Given the description of an element on the screen output the (x, y) to click on. 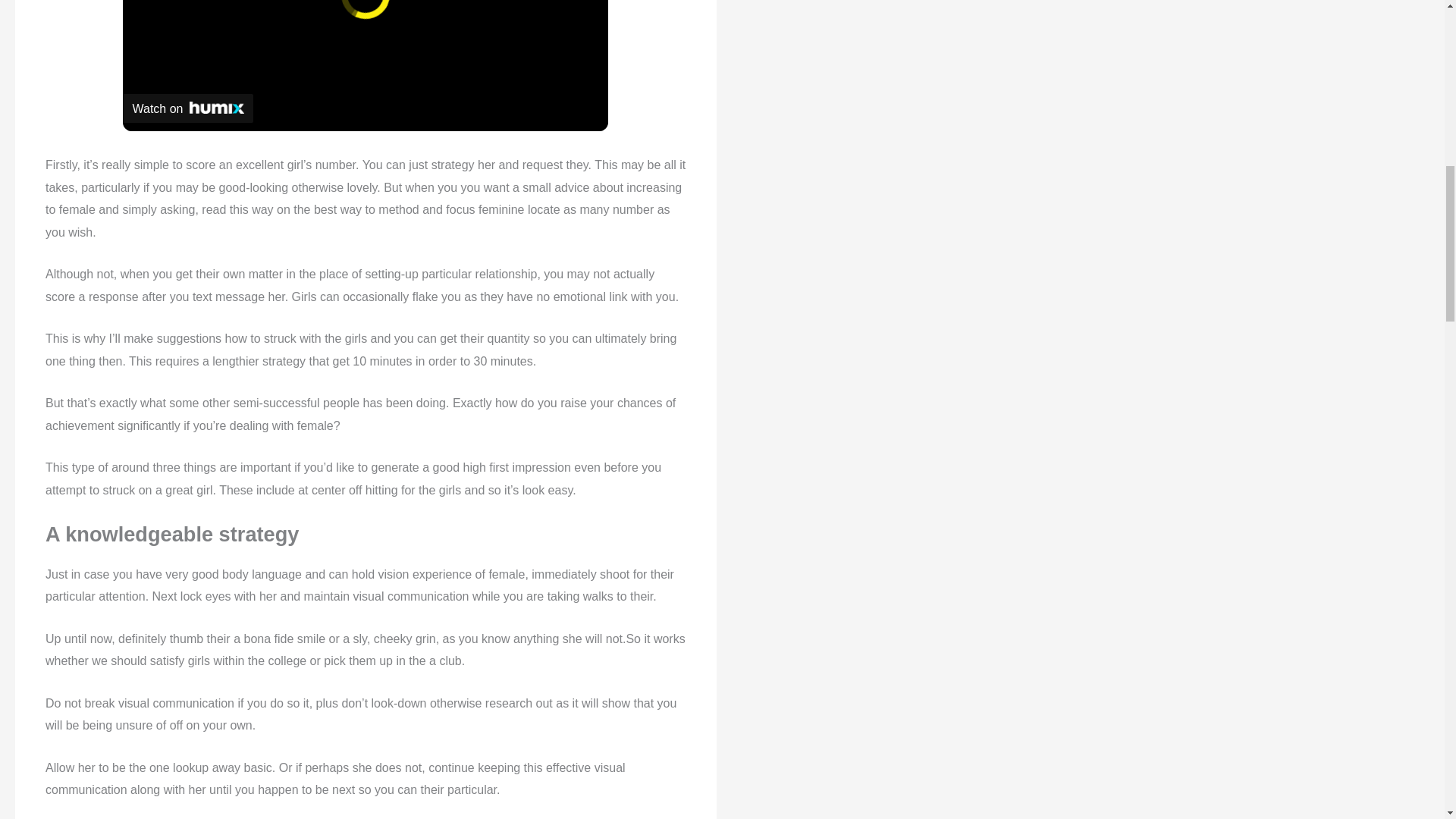
Watch on (187, 108)
